Given the description of an element on the screen output the (x, y) to click on. 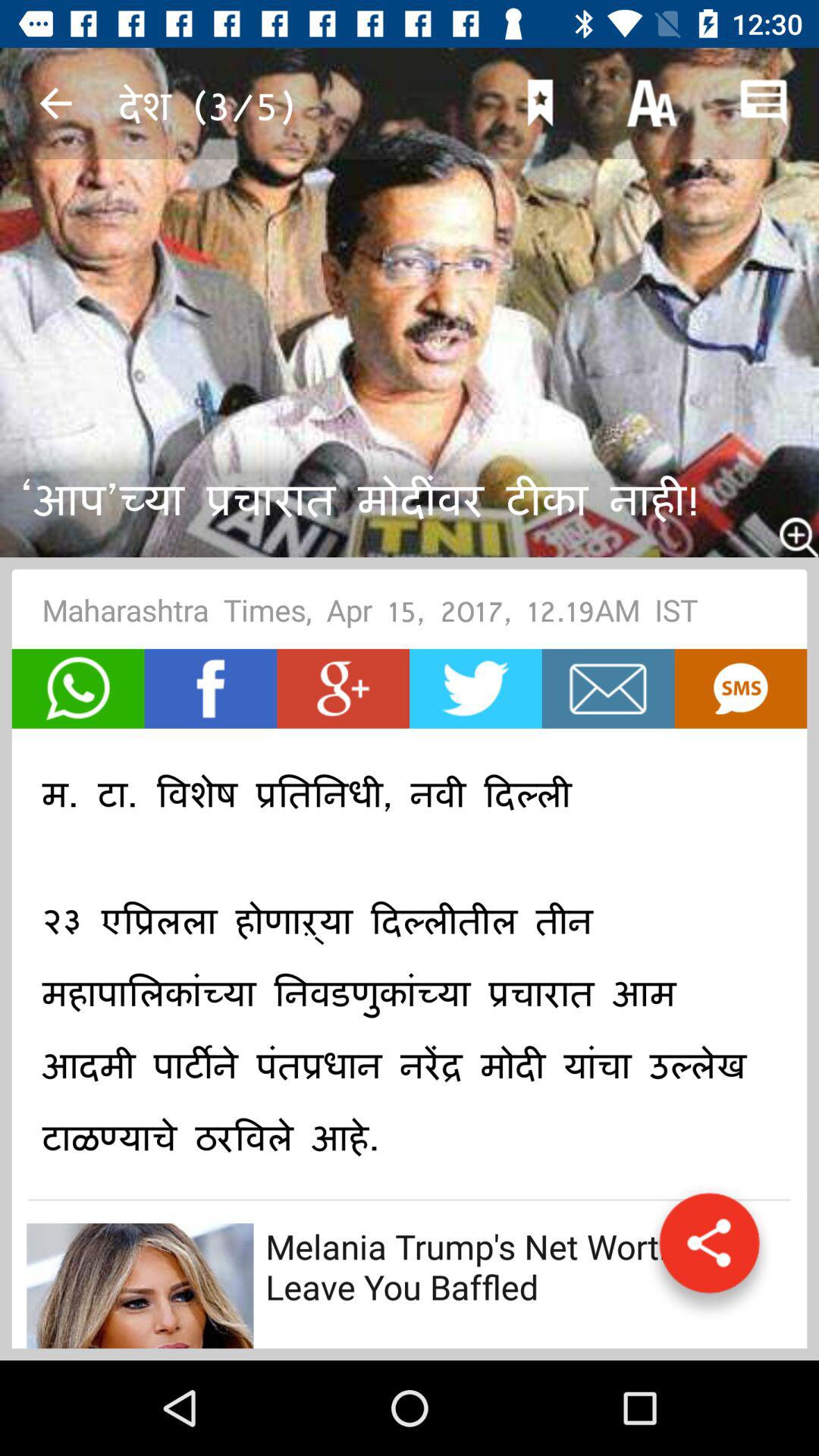
open mail (608, 688)
